Given the description of an element on the screen output the (x, y) to click on. 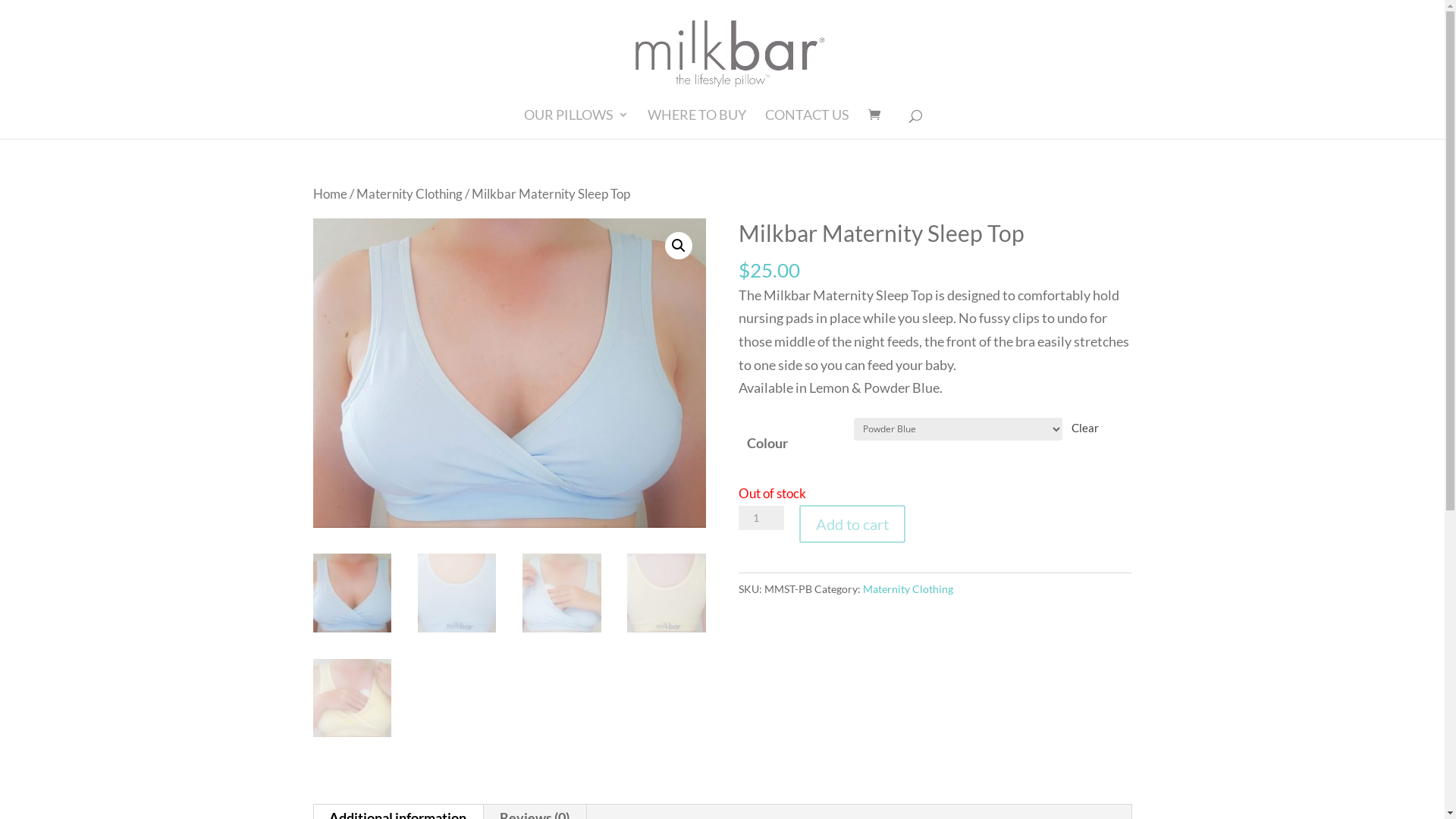
WHERE TO BUY Element type: text (696, 123)
Maternity Clothing Element type: text (907, 588)
Home Element type: text (329, 193)
Add to cart Element type: text (852, 523)
Milkbar_Maternity_Top_Blue_Front-1200 Element type: hover (508, 372)
Maternity Clothing Element type: text (409, 193)
OUR PILLOWS Element type: text (576, 123)
Clear Element type: text (1084, 427)
CONTACT US Element type: text (807, 123)
